Given the description of an element on the screen output the (x, y) to click on. 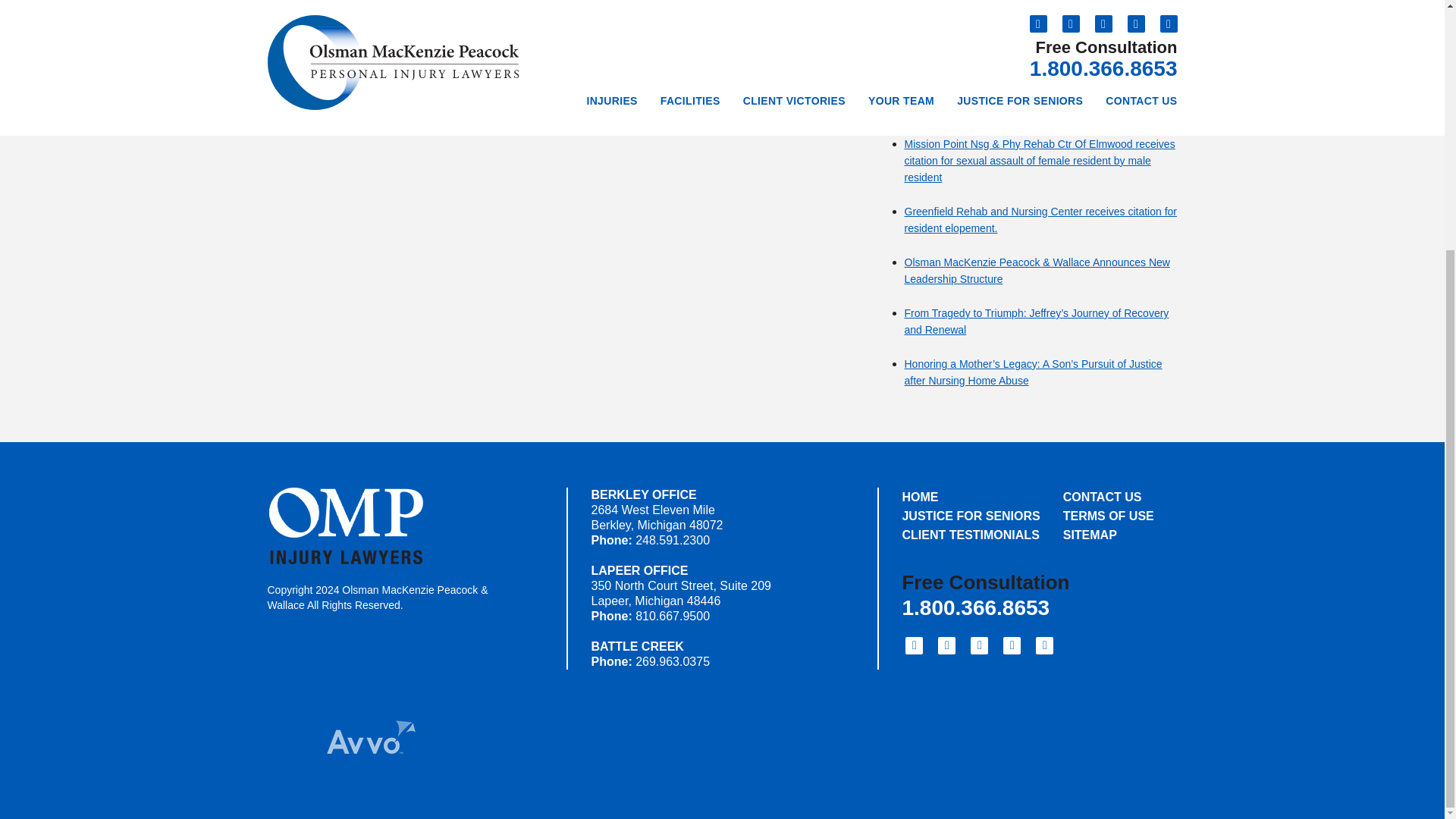
Justice for Seniors (970, 515)
Contact Us (1108, 496)
Terms of Use (1108, 515)
Home (970, 496)
SiteMap (1108, 534)
Client Testimonials (970, 534)
